Given the description of an element on the screen output the (x, y) to click on. 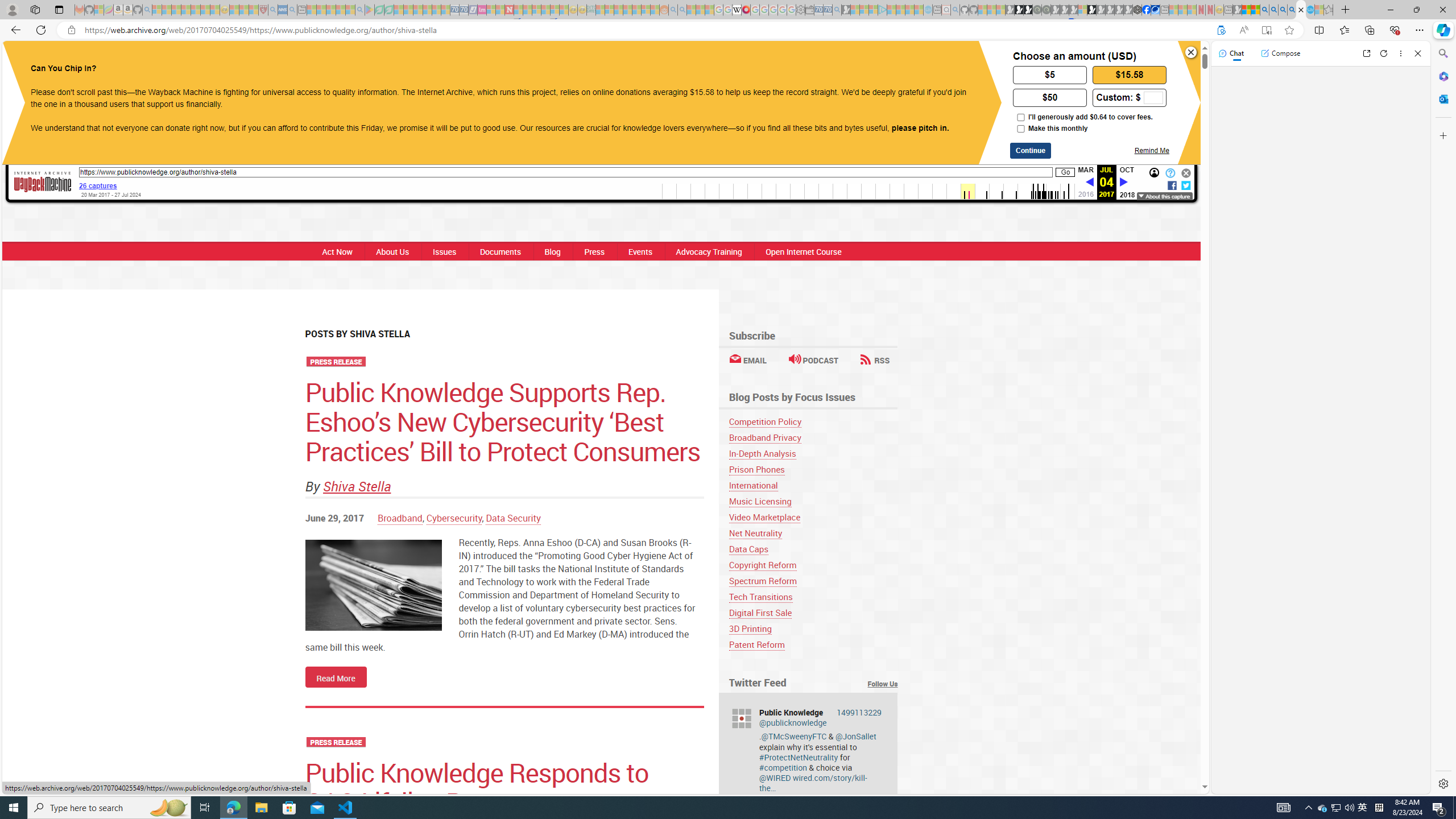
Support Internet Archive? (1220, 29)
Spectrum Reform (813, 580)
Net Neutrality (813, 532)
Blog (552, 251)
TWITTER (692, 60)
DONATE (829, 60)
PODCAST (812, 360)
Bing AI - Search (1264, 9)
AutomationID: custom-amount-input (1152, 97)
FACEBOOK (647, 60)
